Given the description of an element on the screen output the (x, y) to click on. 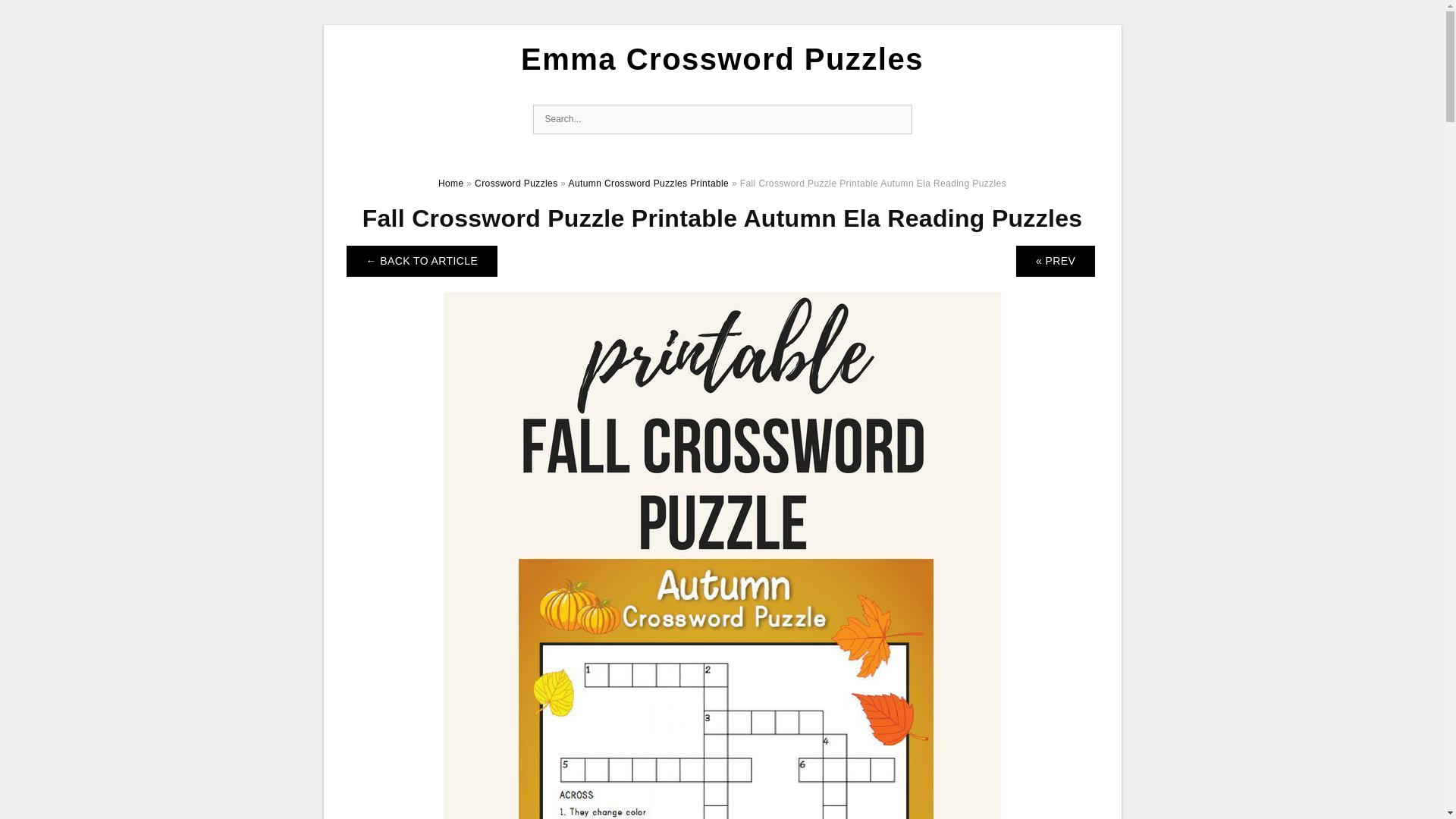
Search (895, 119)
Crossword Puzzles (515, 183)
Search (895, 119)
Return to Autumn Crossword Puzzles Printable (421, 260)
Autumn Crossword Puzzles Printable (648, 183)
Search (895, 119)
Search for: (721, 119)
Home (451, 183)
Fall Crossword Puzzle Printable Autumn Ela Reading Puzzles (722, 708)
Emma Crossword Puzzles (722, 59)
